Given the description of an element on the screen output the (x, y) to click on. 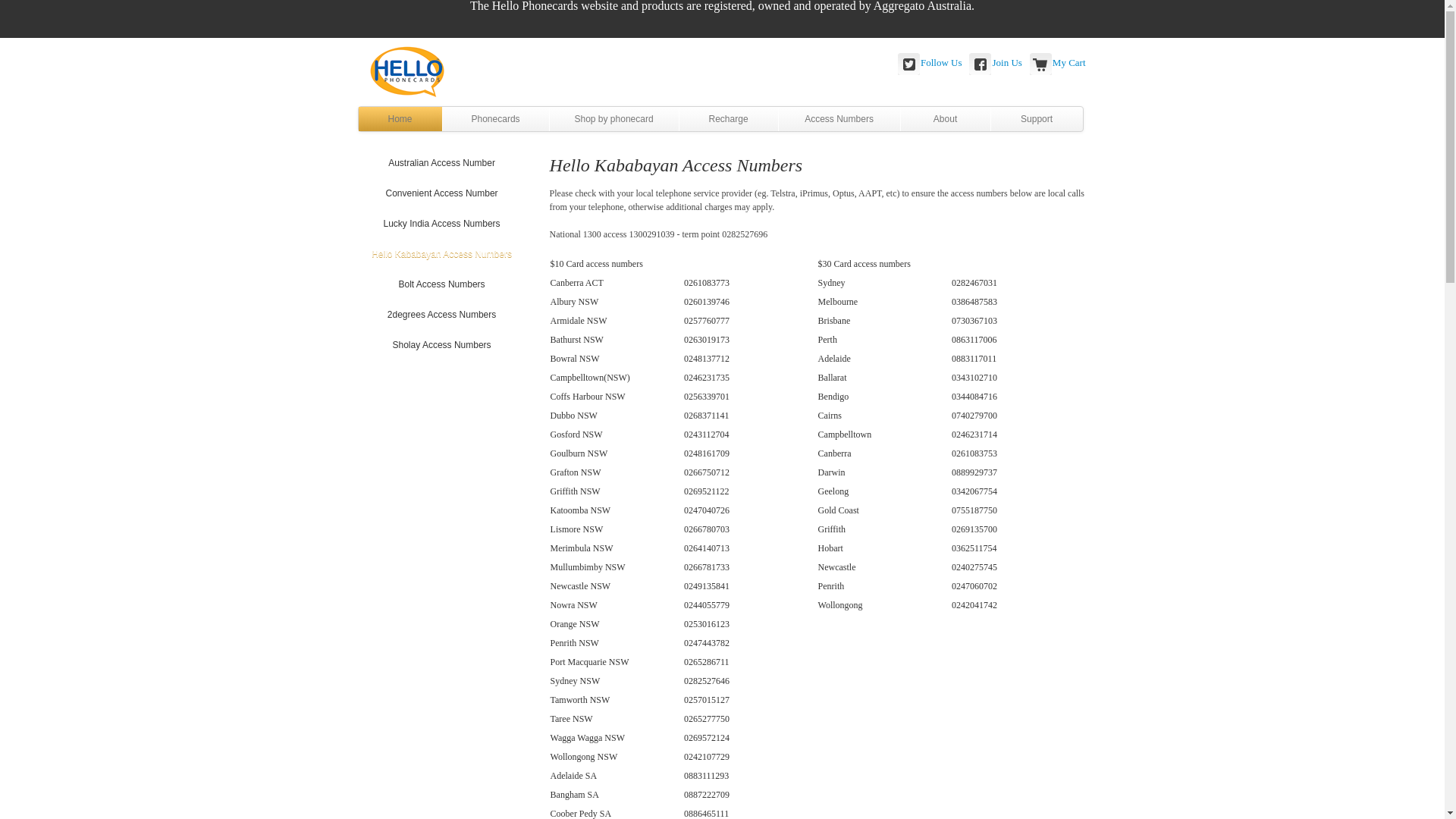
About Element type: text (945, 118)
Recharge Element type: text (728, 118)
Phonecards Element type: text (495, 118)
Support Element type: text (1036, 118)
View My Cart Element type: hover (1040, 64)
Hello Phonecards Element type: hover (407, 68)
Australian Access Number Element type: text (441, 162)
Lucky India Access Numbers Element type: text (441, 223)
Hello Kababayan Access Numbers Element type: text (441, 253)
Follow Us Element type: text (941, 62)
Join Us Element type: text (1006, 62)
Shop by phonecard Element type: text (613, 118)
Sholay Access Numbers Element type: text (441, 344)
Join us on Facebook Element type: hover (980, 64)
Access Numbers Element type: text (839, 118)
2degrees Access Numbers Element type: text (441, 314)
My Cart Element type: text (1068, 62)
Convenient Access Number Element type: text (441, 193)
Follow us on Twitter Element type: hover (908, 64)
Bolt Access Numbers Element type: text (441, 284)
Home Element type: text (400, 118)
